Given the description of an element on the screen output the (x, y) to click on. 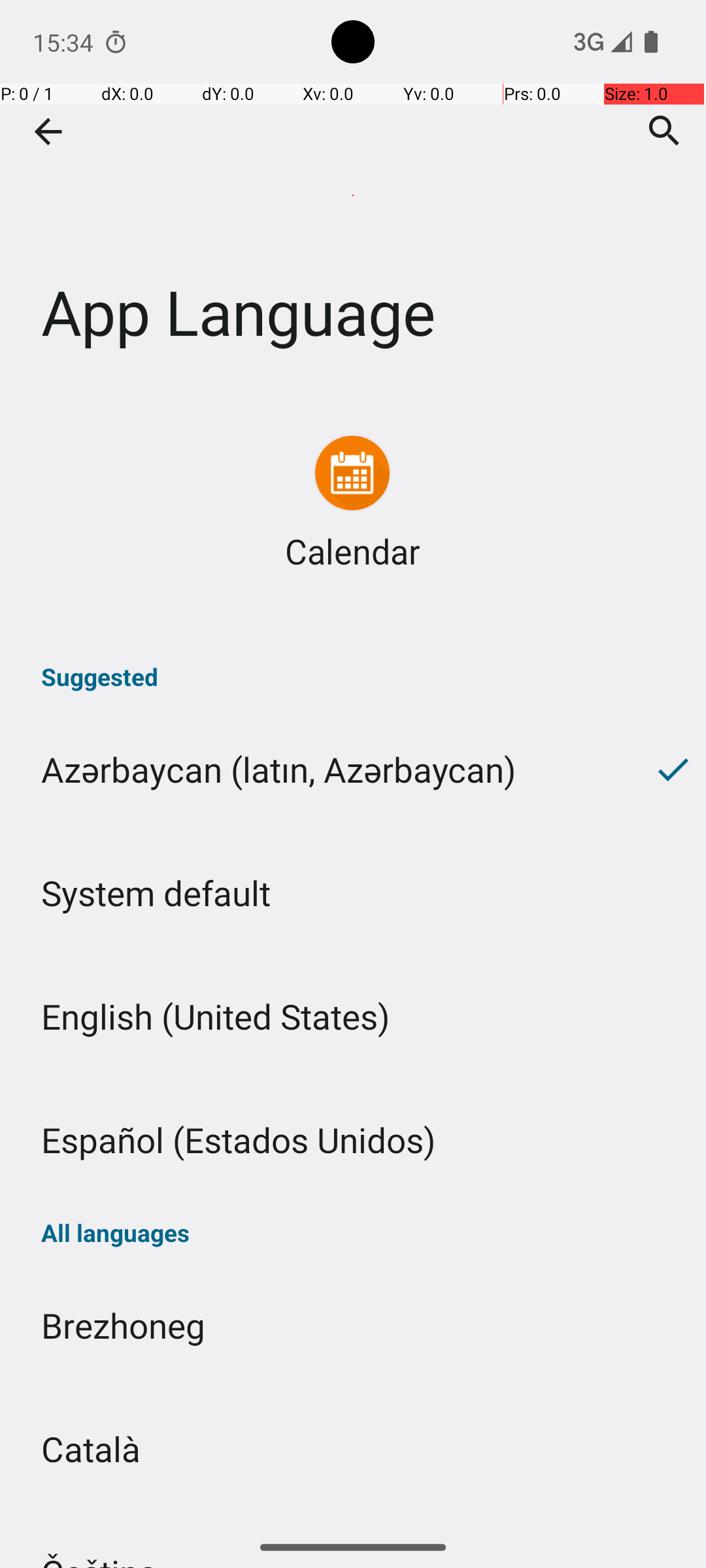
Azərbaycan (latın, Azərbaycan) Element type: android.widget.TextView (320, 769)
